Given the description of an element on the screen output the (x, y) to click on. 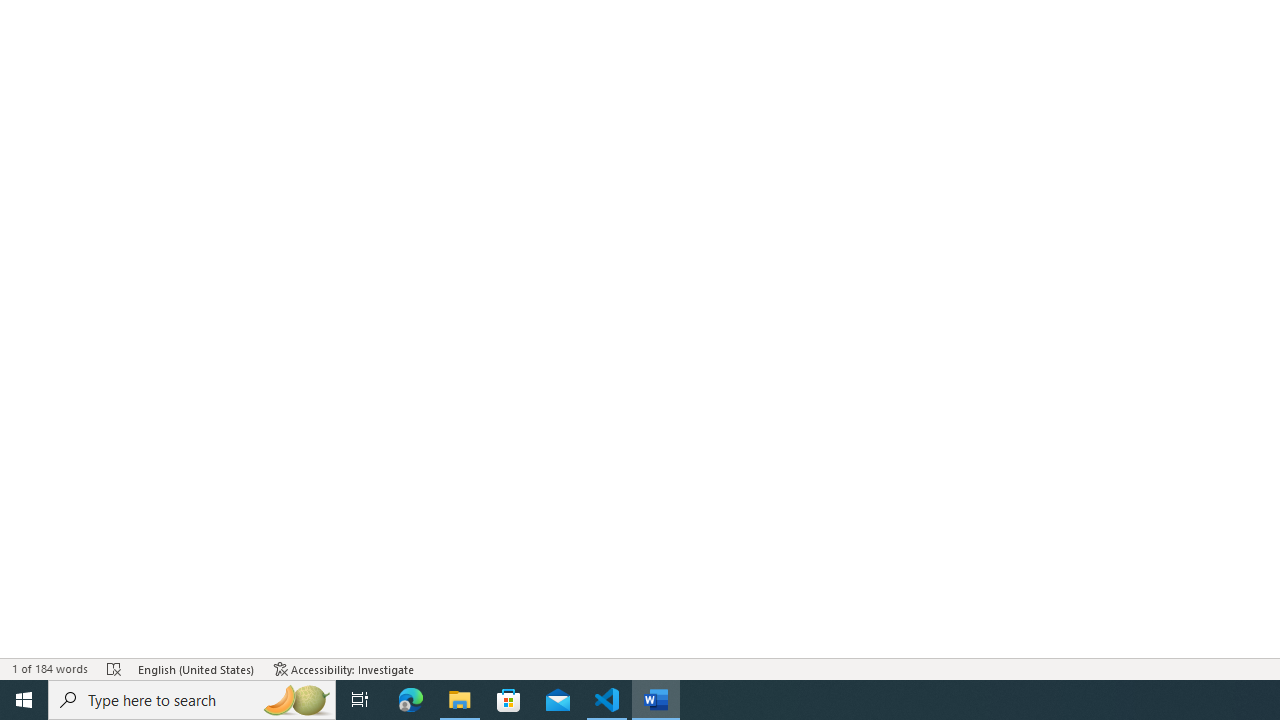
Spelling and Grammar Check Errors (114, 668)
Language English (United States) (196, 668)
Word Count 1 of 184 words (49, 668)
Accessibility Checker Accessibility: Investigate (344, 668)
